Given the description of an element on the screen output the (x, y) to click on. 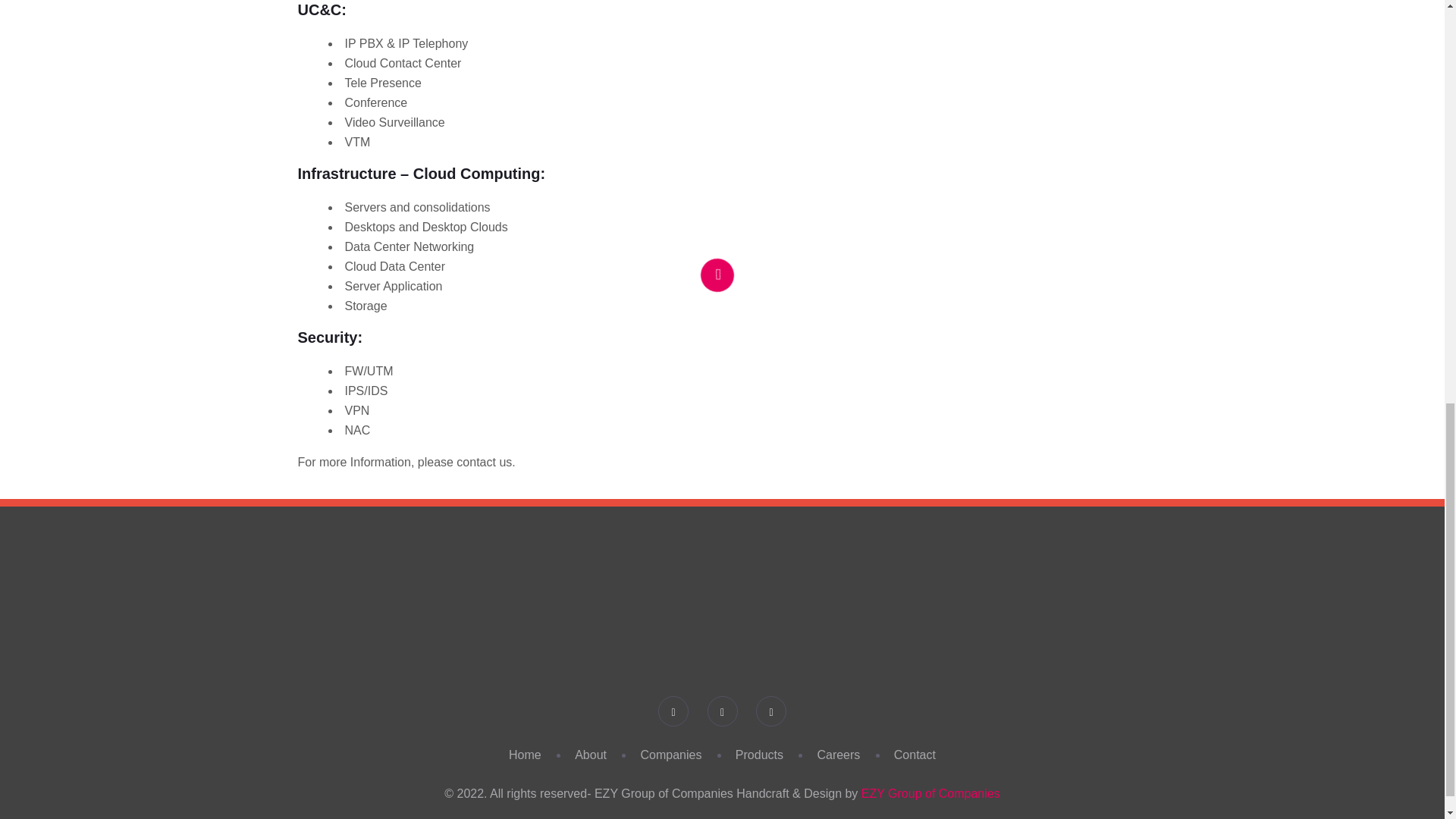
Contact (914, 754)
Careers (838, 754)
EZY Group of Companies (930, 793)
Companies (670, 754)
About (591, 754)
Home (524, 754)
Products (759, 754)
